Given the description of an element on the screen output the (x, y) to click on. 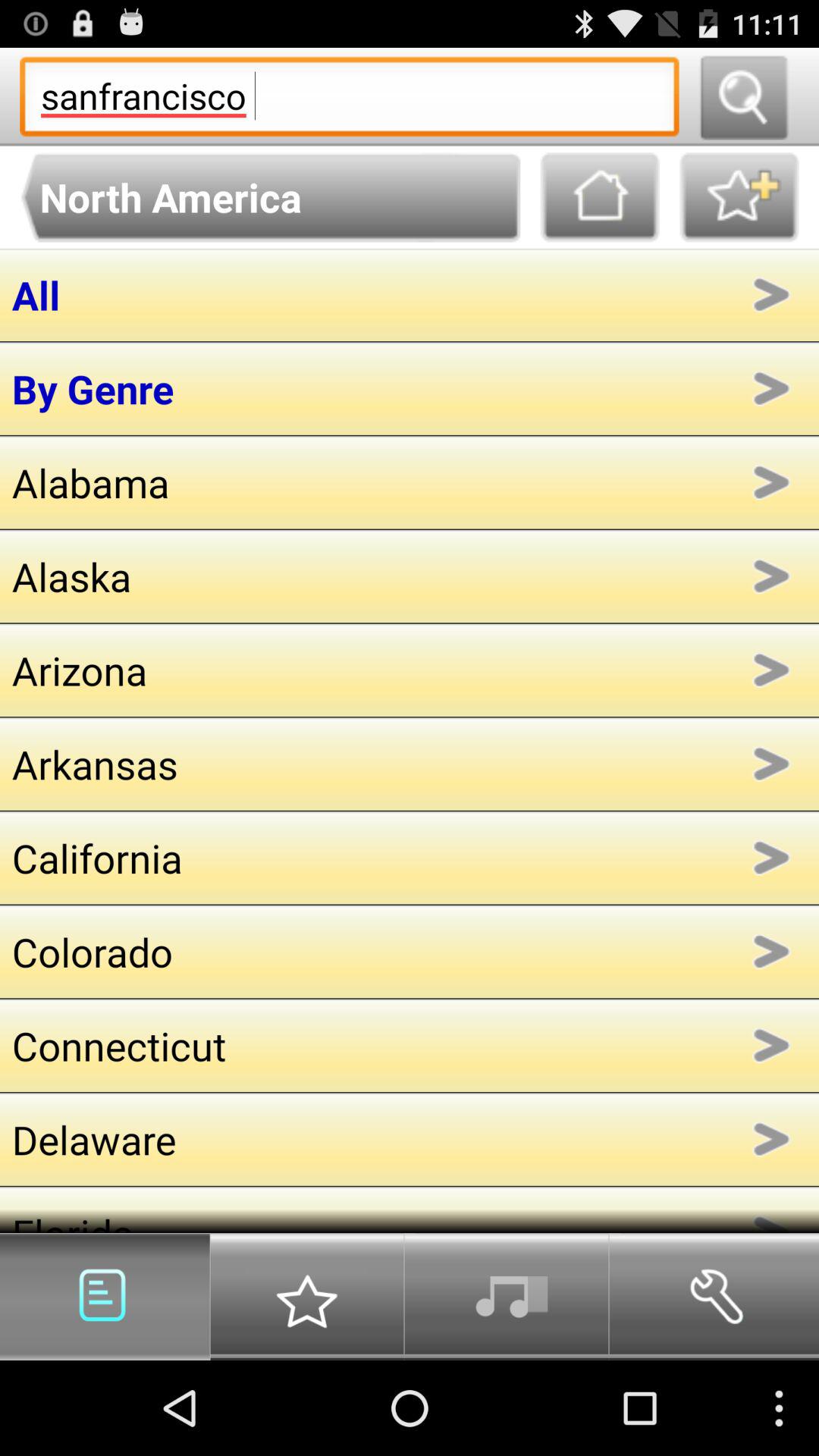
add to favorites (739, 197)
